Given the description of an element on the screen output the (x, y) to click on. 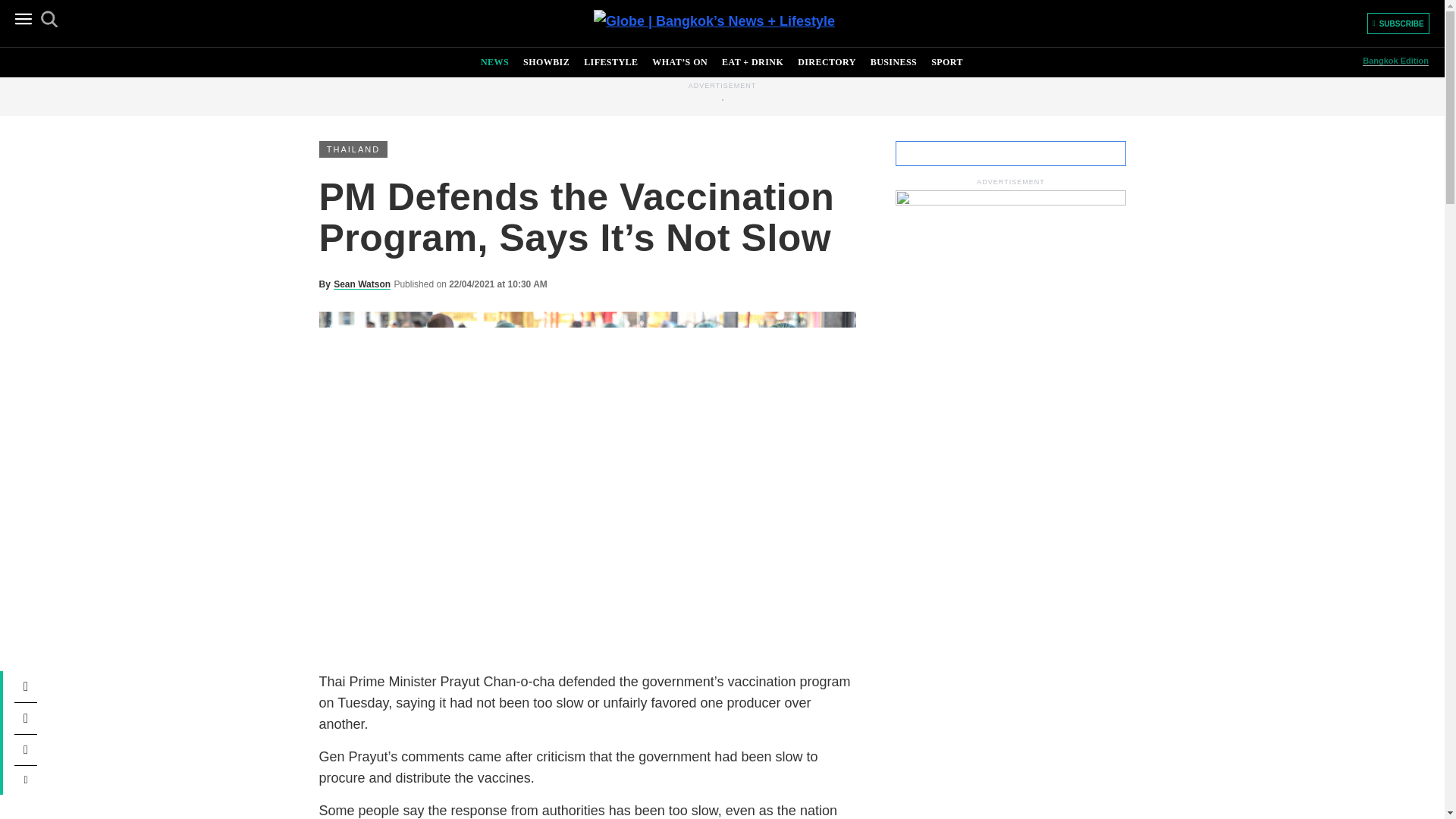
Share with Facebook (25, 686)
Tweet this (25, 718)
Share with LinkedIn (25, 749)
Posts by Sean Watson (361, 284)
Share by Email (25, 779)
